Given the description of an element on the screen output the (x, y) to click on. 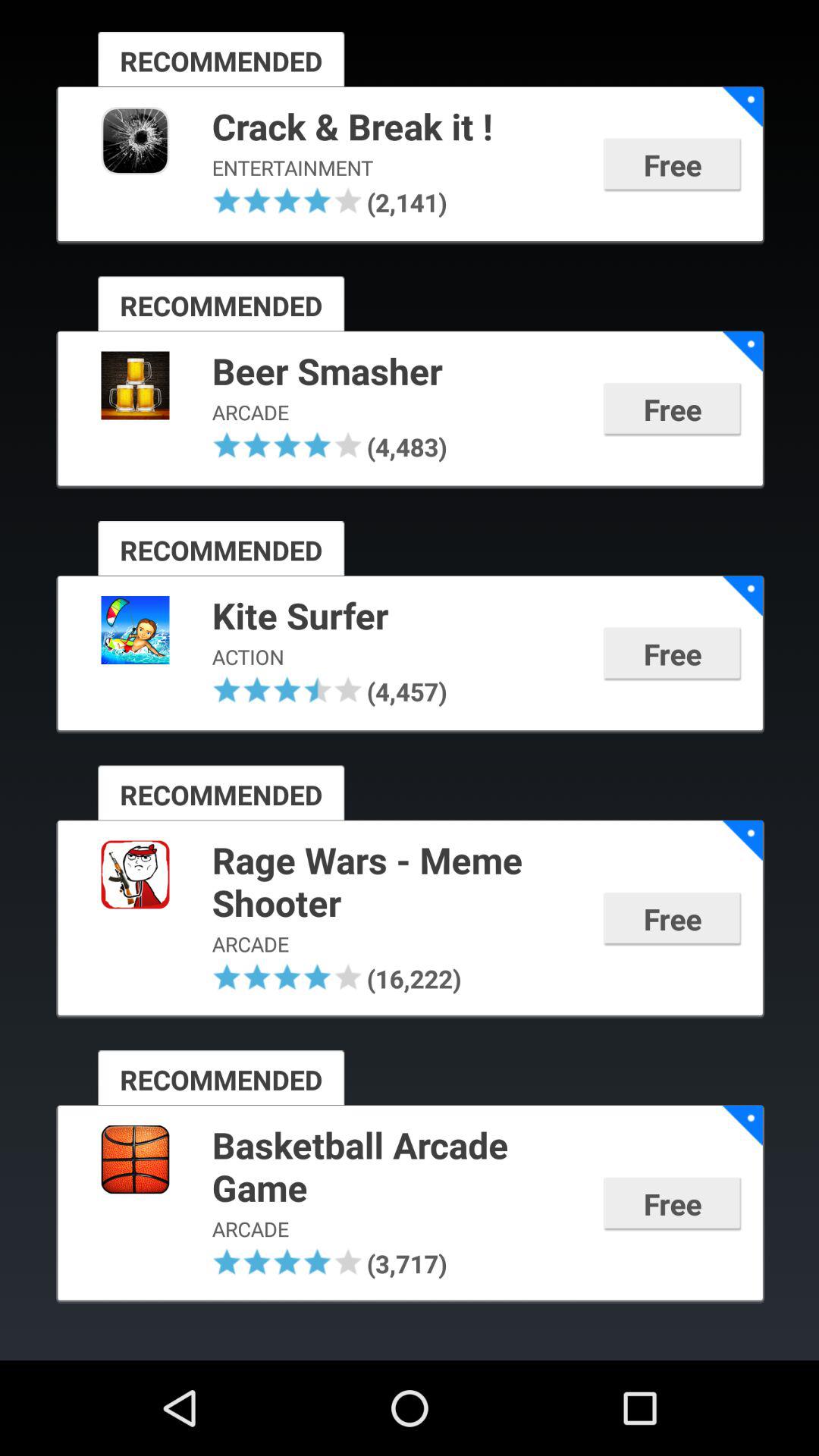
select app below the arcade app (347, 976)
